Given the description of an element on the screen output the (x, y) to click on. 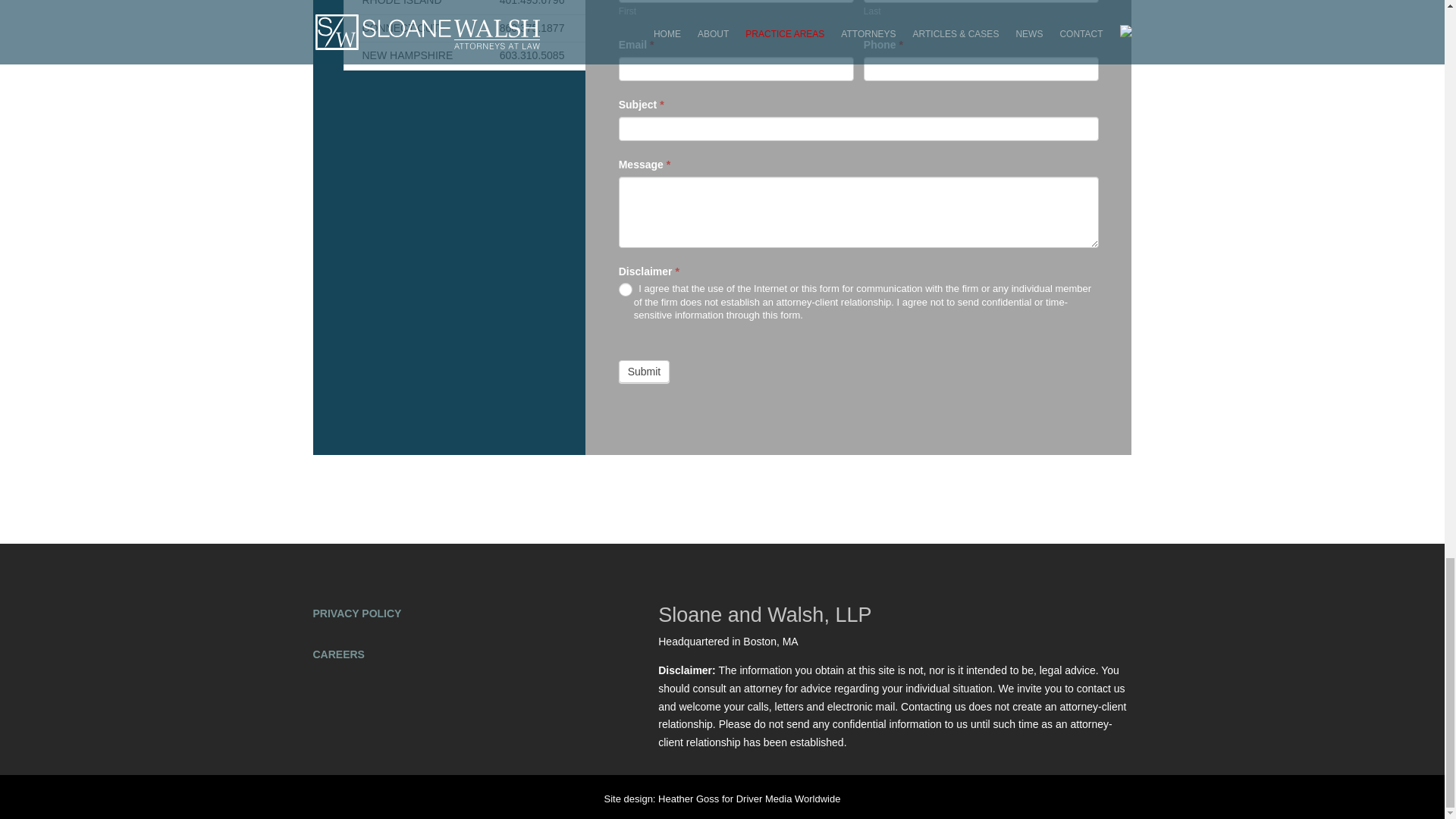
PRIVACY POLICY (357, 613)
Submit (643, 371)
CAREERS (338, 654)
